Given the description of an element on the screen output the (x, y) to click on. 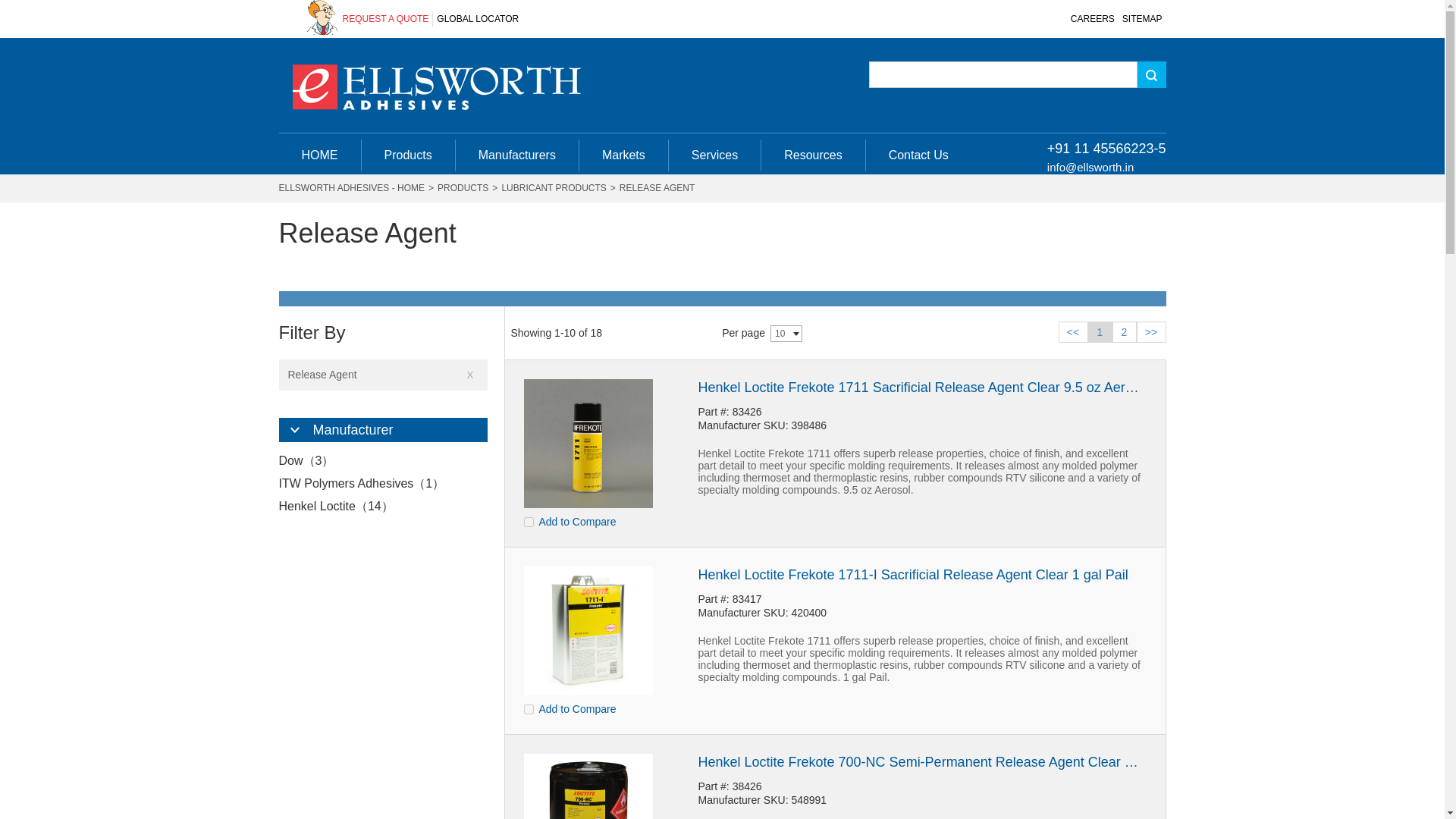
Services (714, 155)
on (527, 521)
on (527, 708)
REQUEST A QUOTE (384, 18)
Contact Us (918, 155)
GLOBAL LOCATOR (477, 18)
CAREERS (1092, 18)
HOME (320, 155)
SITEMAP (1142, 18)
Resources (812, 155)
Products (407, 155)
Manufacturers (517, 155)
Markets (623, 155)
